Given the description of an element on the screen output the (x, y) to click on. 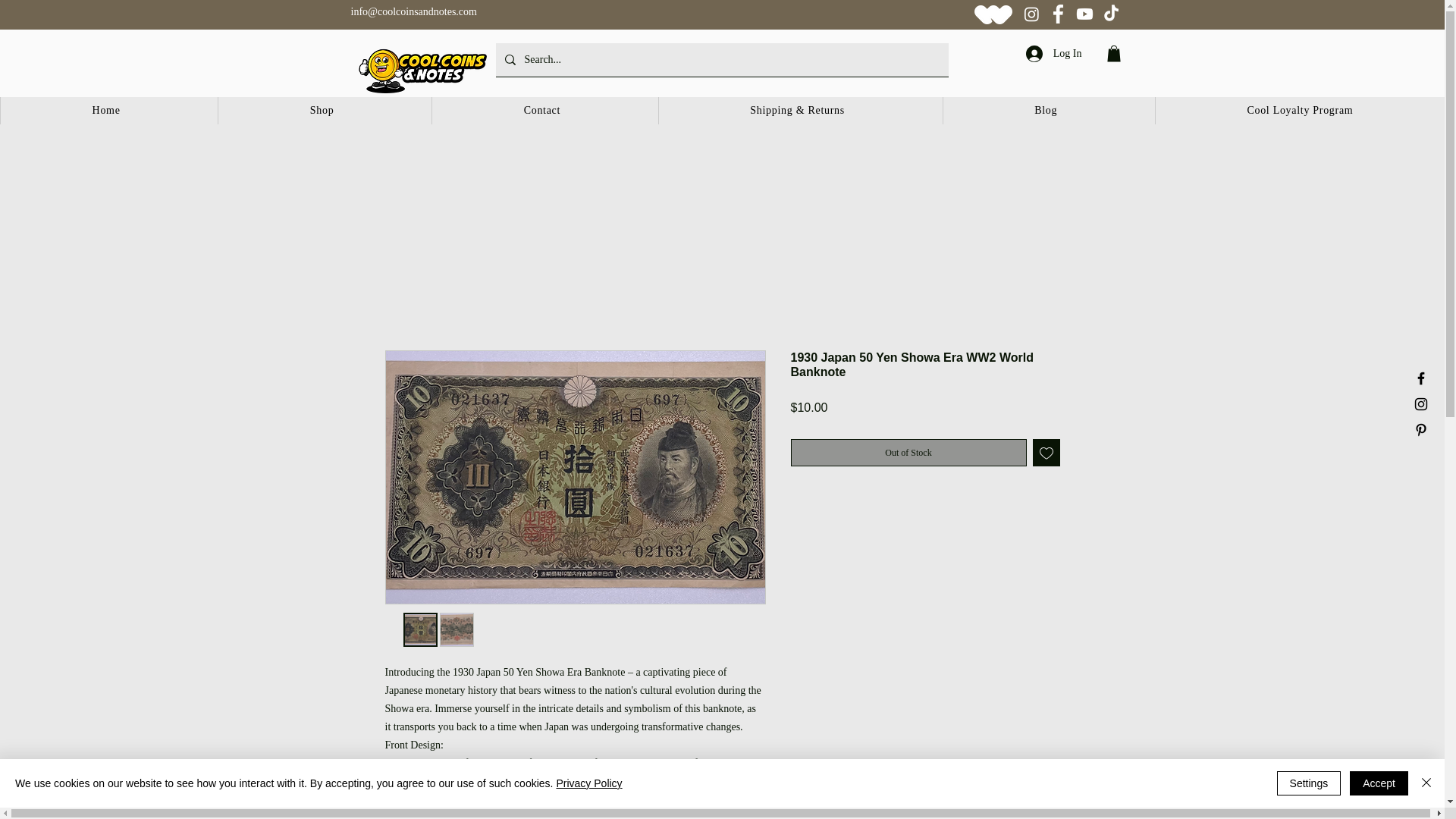
Contact (541, 110)
Blog (1045, 110)
Privacy Policy (588, 783)
Cool Loyalty Program (1299, 110)
Out of Stock (908, 452)
Shop (320, 110)
Accept (1378, 783)
Log In (1053, 53)
Home (105, 110)
